Given the description of an element on the screen output the (x, y) to click on. 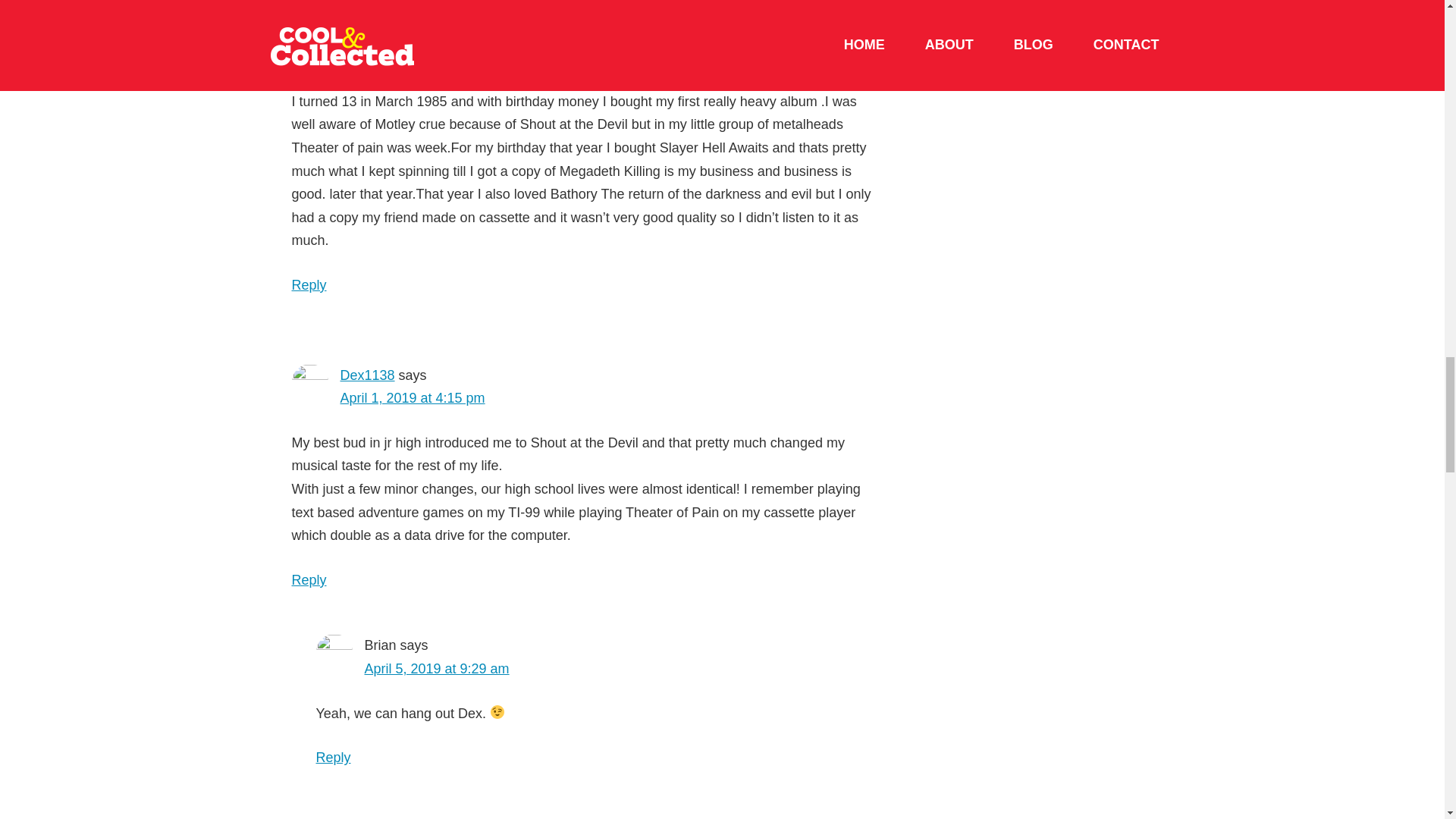
March 29, 2019 at 8:31 pm (420, 56)
Reply (308, 580)
April 5, 2019 at 9:29 am (436, 668)
Brothermidnight (387, 33)
Reply (308, 284)
Reply (332, 757)
April 1, 2019 at 4:15 pm (411, 397)
Dex1138 (366, 375)
